Given the description of an element on the screen output the (x, y) to click on. 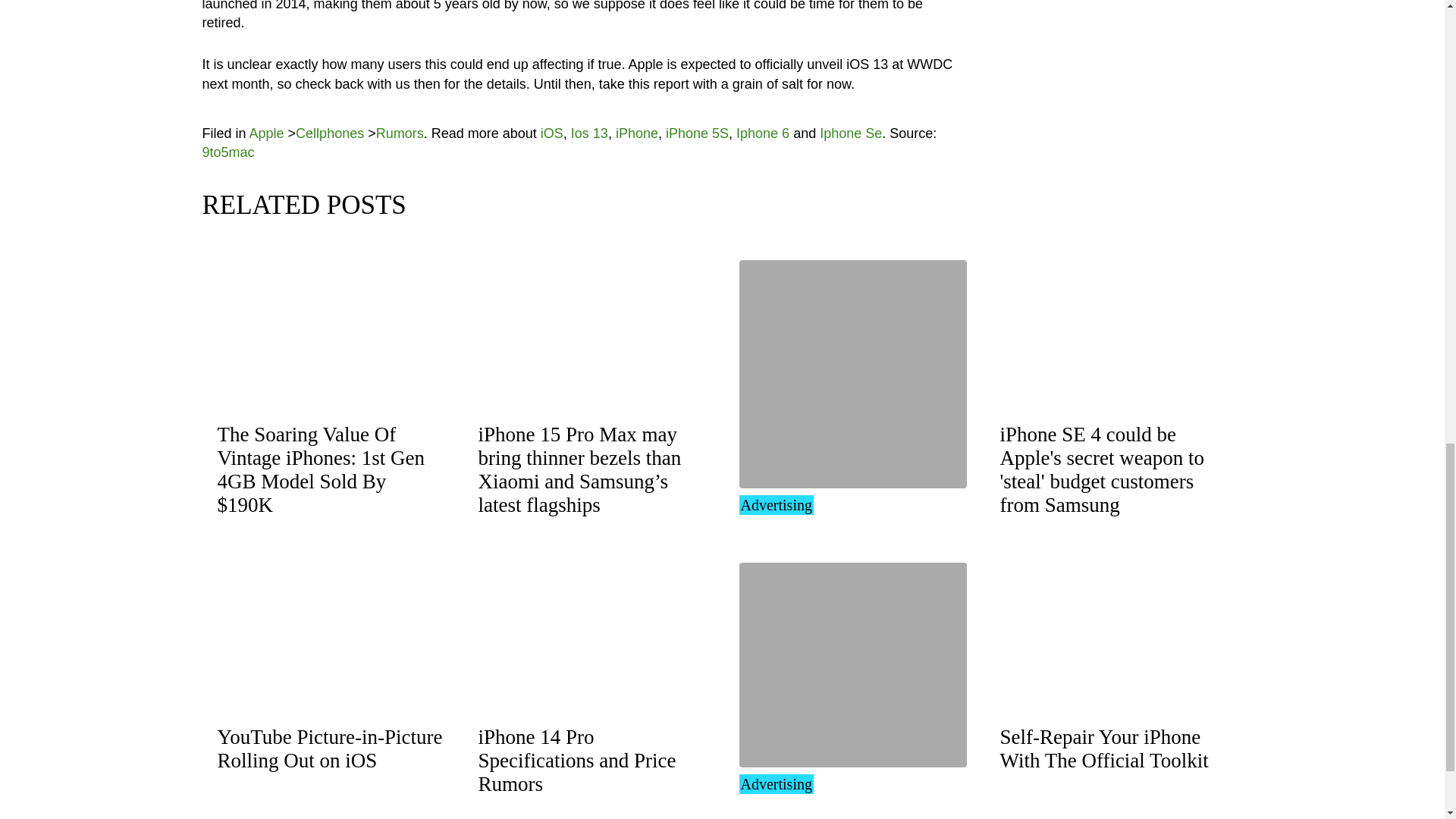
iPhone SE 4 could be Apple (1101, 469)
